Given the description of an element on the screen output the (x, y) to click on. 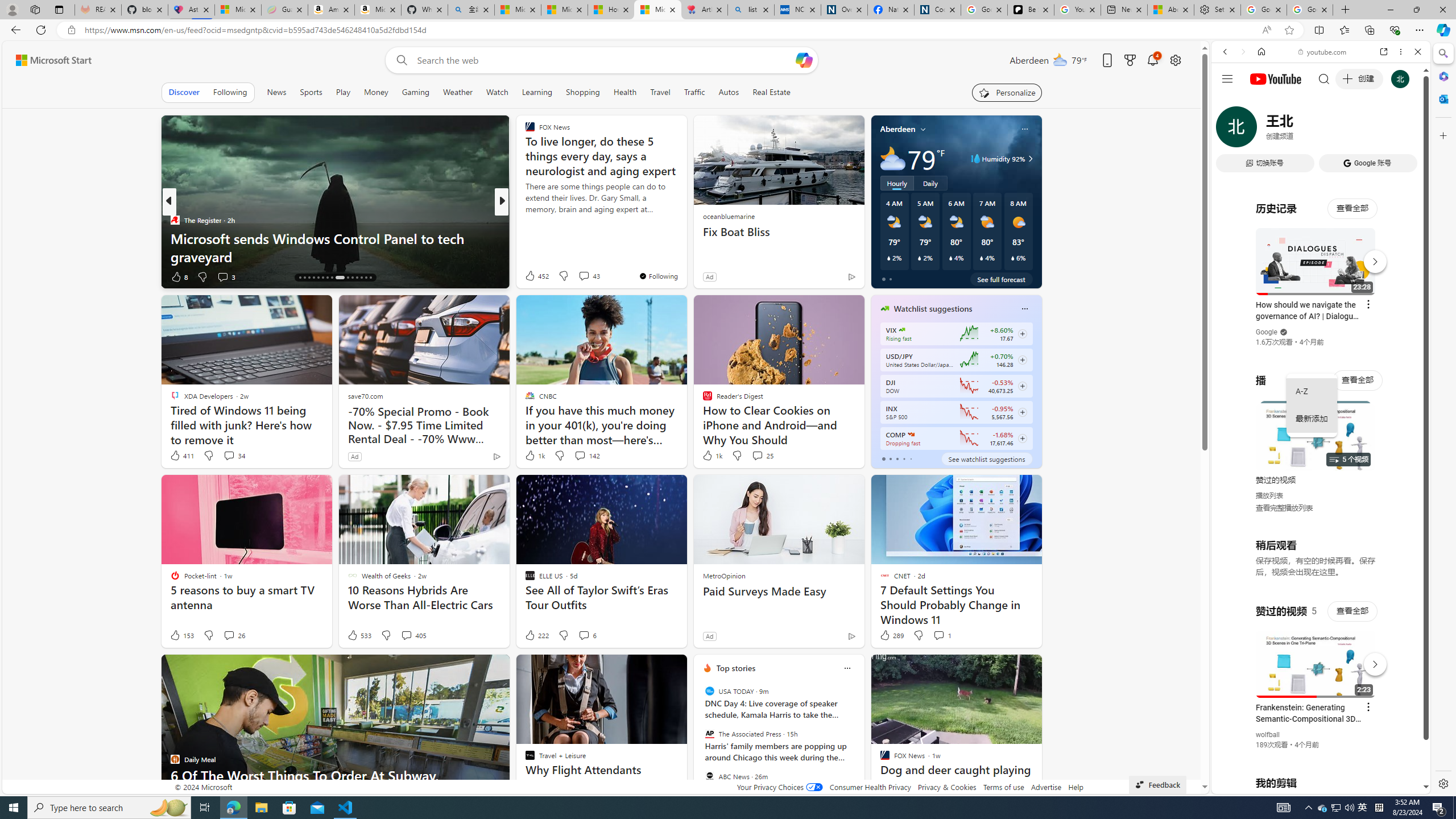
Terms of use (1003, 786)
AutomationID: tab-25 (347, 277)
Class: dict_pnIcon rms_img (1312, 784)
Sports (310, 92)
View comments 3 Comment (222, 276)
Class: icon-img (847, 668)
AutomationID: tab-23 (331, 277)
Google (1266, 331)
AutomationID: tab-26 (352, 277)
